Given the description of an element on the screen output the (x, y) to click on. 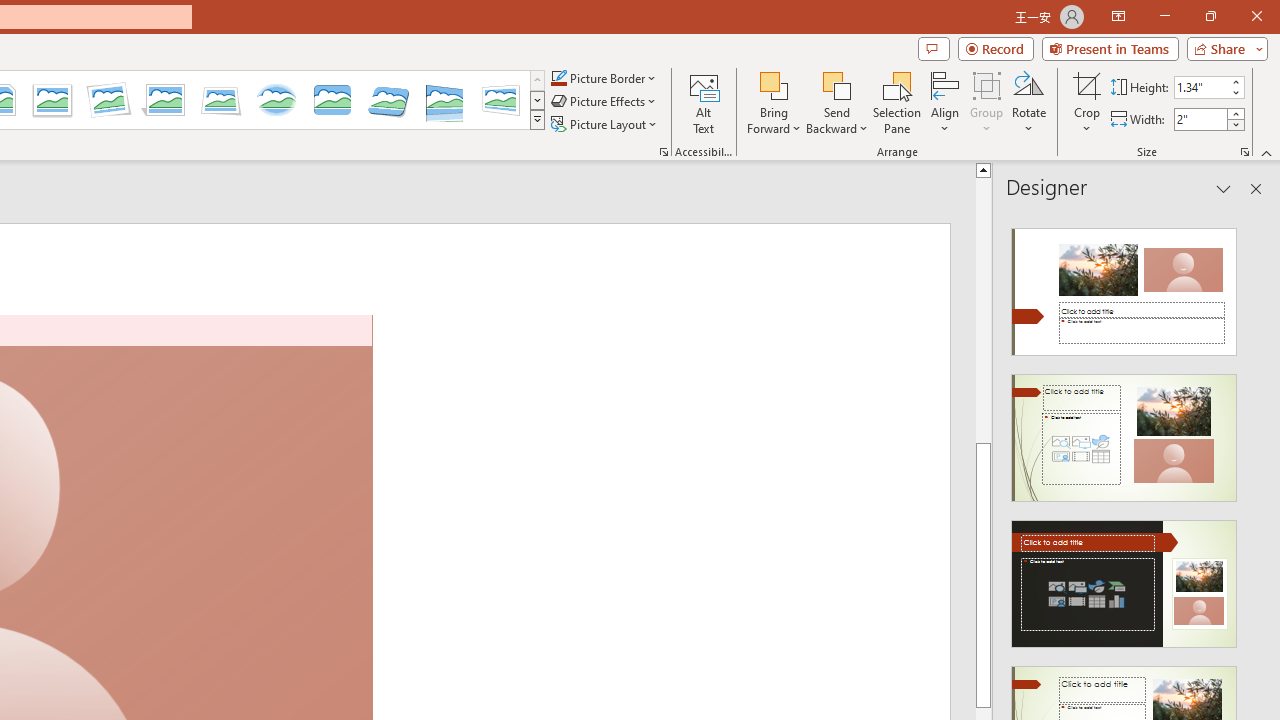
Picture Effects (605, 101)
Group (987, 102)
Relaxed Perspective, White (221, 100)
Picture... (663, 151)
Less (1235, 124)
Bring Forward (773, 84)
Picture Layout (605, 124)
More (1235, 113)
Reflected Perspective Right (445, 100)
Bring Forward (773, 102)
